Given the description of an element on the screen output the (x, y) to click on. 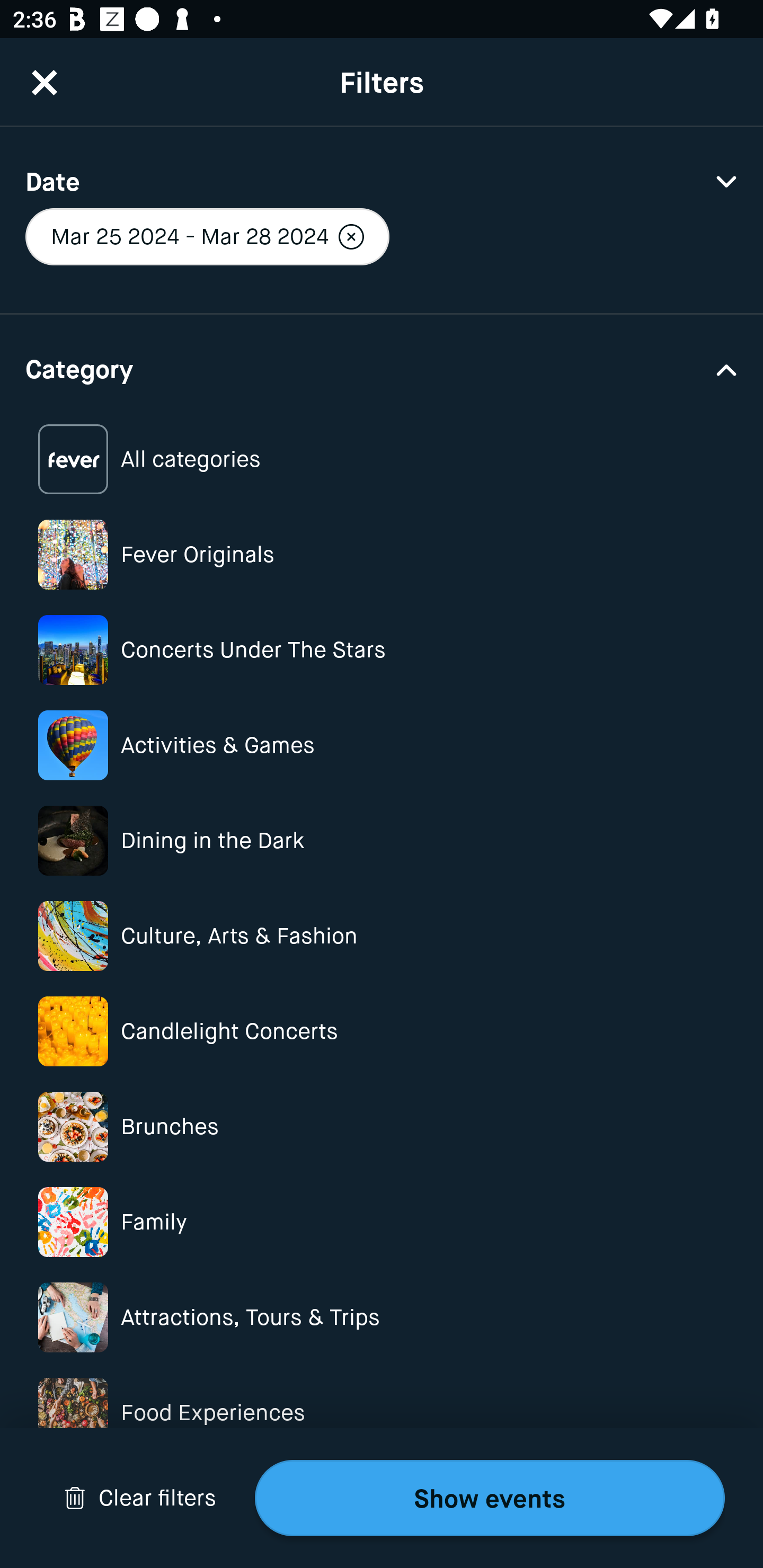
CloseButton (44, 82)
Mar 25 2024 - Mar 28 2024 Localized description (207, 236)
Category Drop Down Arrow (381, 368)
Category Image All categories (381, 459)
Category Image Fever Originals (381, 553)
Category Image Concerts Under The Stars (381, 649)
Category Image Activities & Games (381, 745)
Category Image Dining in the Dark (381, 840)
Category Image Culture, Arts & Fashion (381, 935)
Category Image Candlelight Concerts (381, 1030)
Category Image Brunches (381, 1126)
Category Image Family (381, 1221)
Category Image Attractions, Tours & Trips (381, 1317)
Category Image Food Experiences (381, 1412)
Drop Down Arrow Clear filters (139, 1497)
Show events (489, 1497)
